Given the description of an element on the screen output the (x, y) to click on. 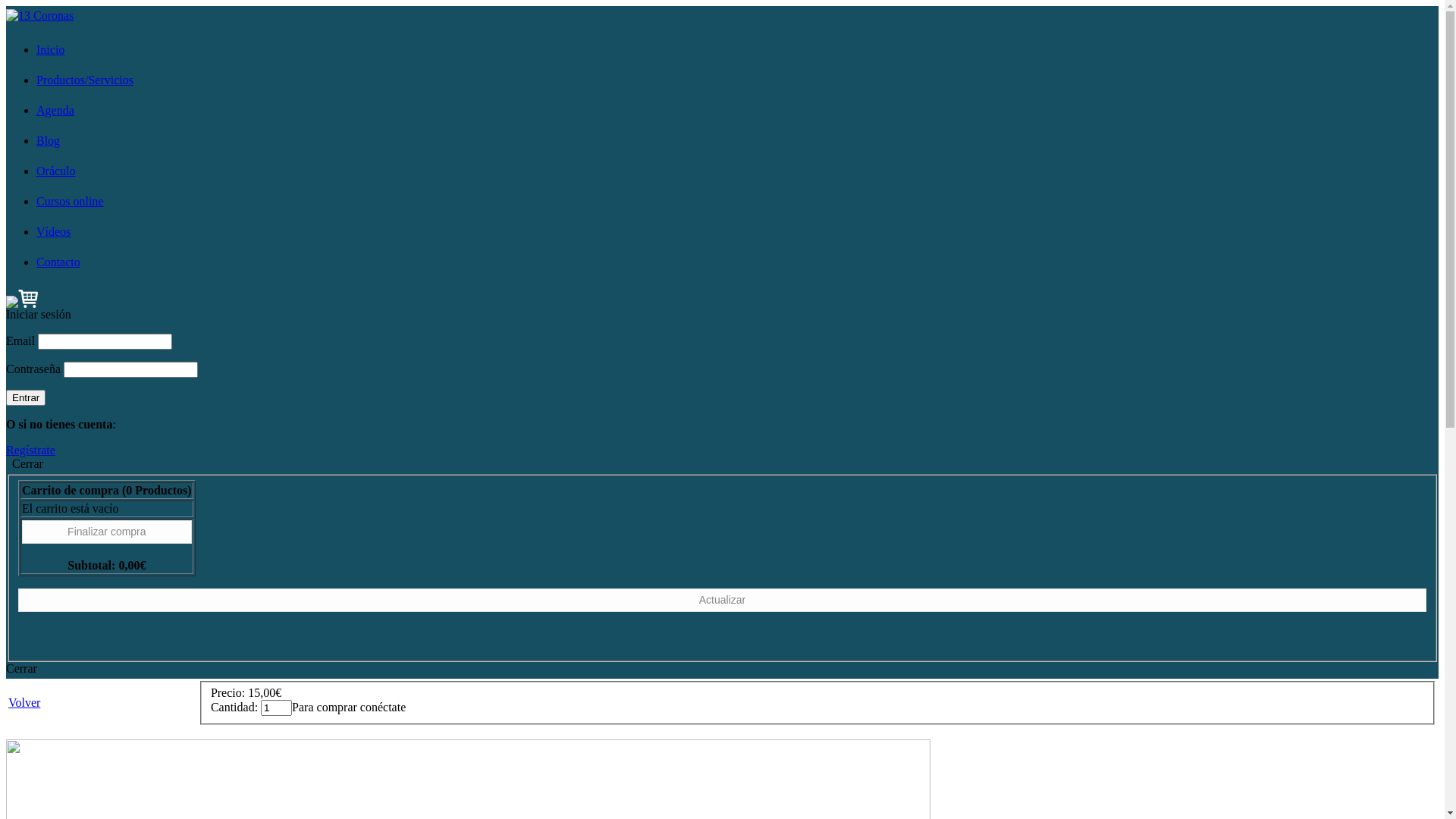
Finalizar compra Element type: text (106, 531)
Inicio Element type: text (50, 49)
Entrar Element type: text (25, 397)
Cursos online Element type: text (69, 200)
Productos/Servicios Element type: text (84, 79)
Contacto Element type: text (58, 261)
Actualizar Element type: text (722, 599)
Agenda Element type: text (55, 109)
Volver Element type: text (24, 702)
Cerrar Element type: text (21, 668)
Cerrar Element type: text (27, 463)
Blog Element type: text (47, 140)
